Given the description of an element on the screen output the (x, y) to click on. 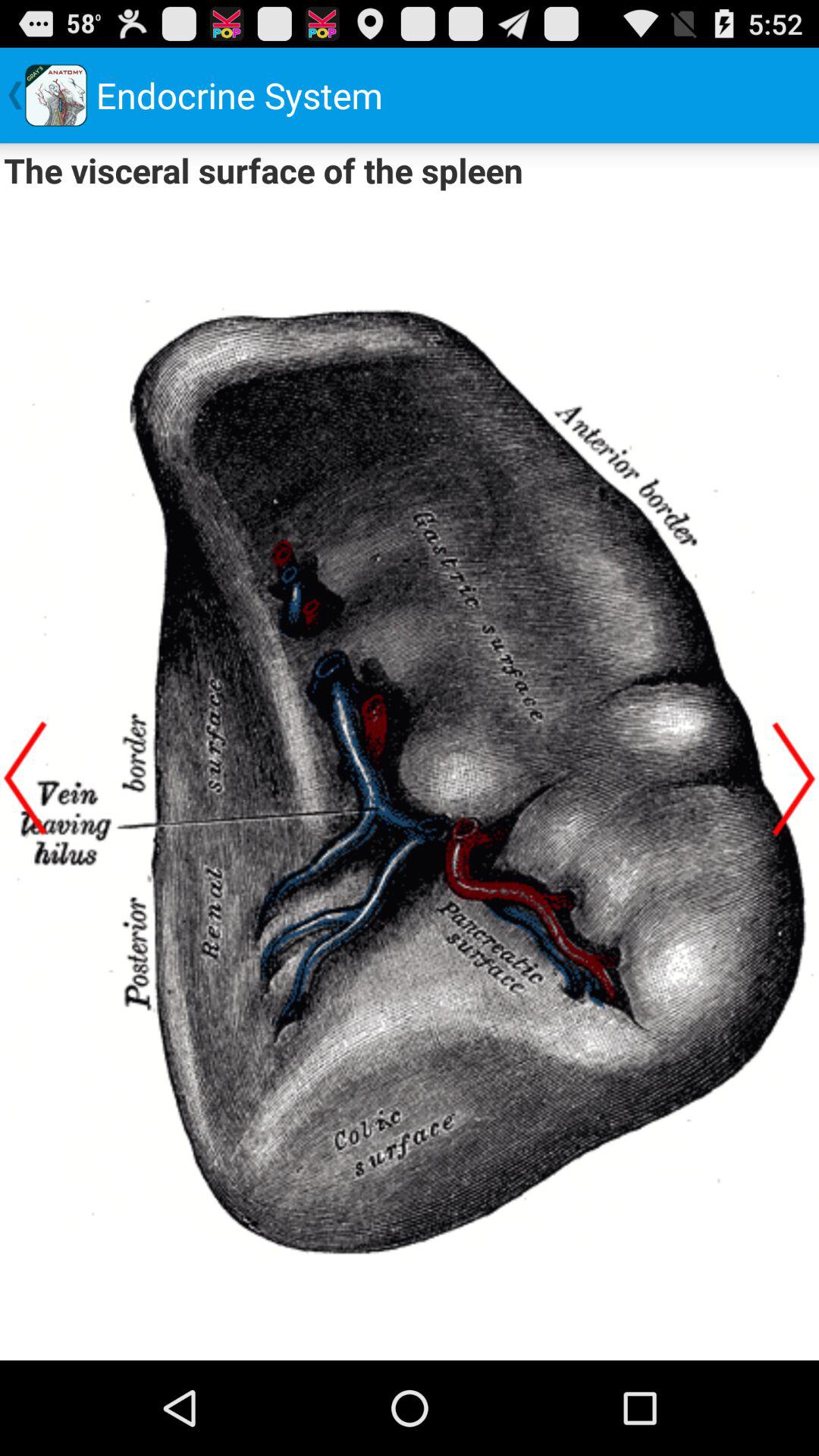
go back (25, 778)
